Given the description of an element on the screen output the (x, y) to click on. 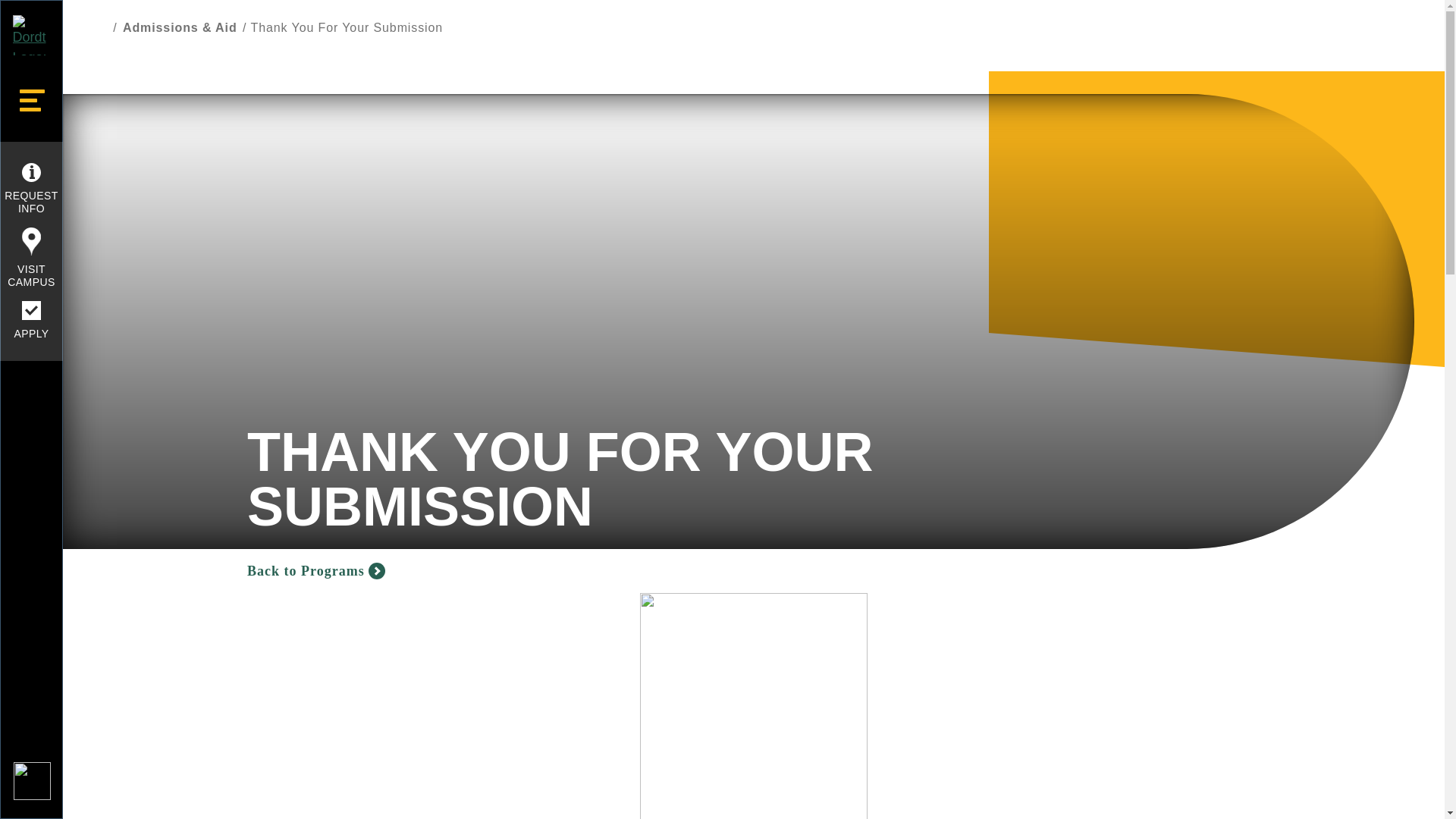
Info (30, 171)
Map Pin (30, 241)
Apply (30, 310)
